Given the description of an element on the screen output the (x, y) to click on. 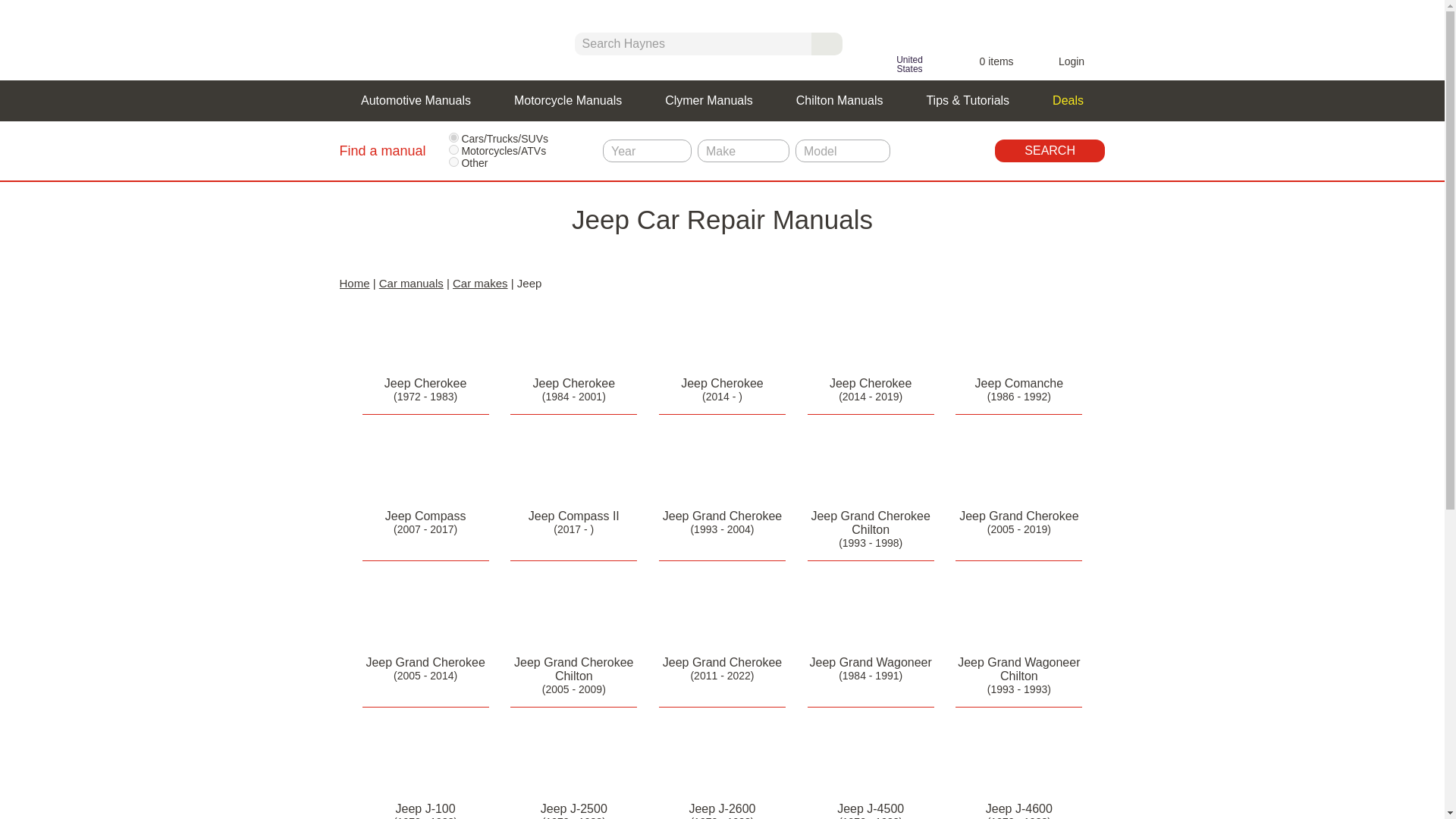
Go to front page (434, 39)
Go to front page (434, 39)
motor (453, 149)
car (453, 137)
other (453, 162)
Search (1049, 150)
